Given the description of an element on the screen output the (x, y) to click on. 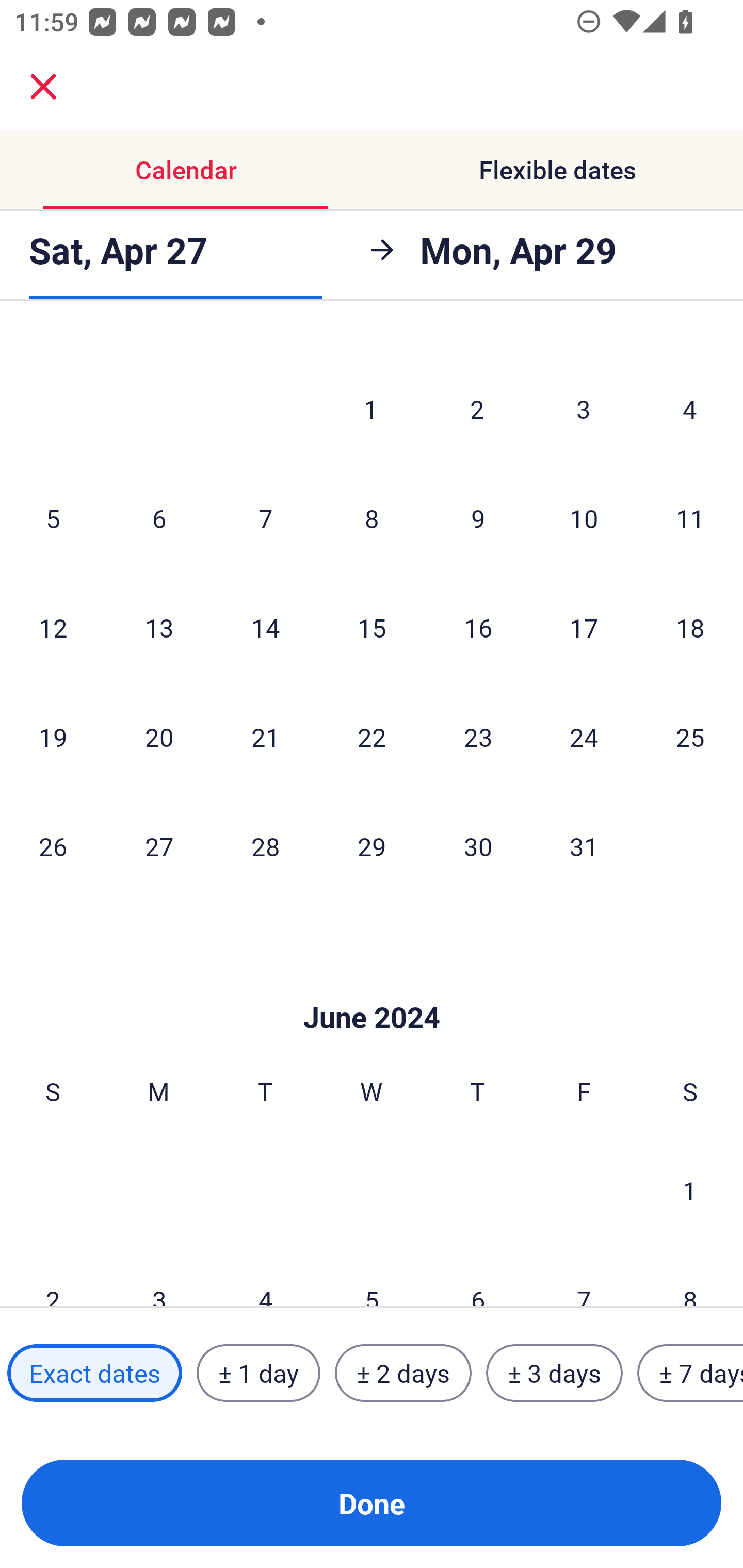
close. (43, 86)
Flexible dates (557, 170)
1 Wednesday, May 1, 2024 (371, 407)
2 Thursday, May 2, 2024 (477, 407)
3 Friday, May 3, 2024 (583, 407)
4 Saturday, May 4, 2024 (689, 407)
5 Sunday, May 5, 2024 (53, 517)
6 Monday, May 6, 2024 (159, 517)
7 Tuesday, May 7, 2024 (265, 517)
8 Wednesday, May 8, 2024 (371, 517)
9 Thursday, May 9, 2024 (477, 517)
10 Friday, May 10, 2024 (584, 517)
11 Saturday, May 11, 2024 (690, 517)
12 Sunday, May 12, 2024 (53, 626)
13 Monday, May 13, 2024 (159, 626)
14 Tuesday, May 14, 2024 (265, 626)
15 Wednesday, May 15, 2024 (371, 626)
16 Thursday, May 16, 2024 (477, 626)
17 Friday, May 17, 2024 (584, 626)
18 Saturday, May 18, 2024 (690, 626)
19 Sunday, May 19, 2024 (53, 736)
20 Monday, May 20, 2024 (159, 736)
21 Tuesday, May 21, 2024 (265, 736)
22 Wednesday, May 22, 2024 (371, 736)
23 Thursday, May 23, 2024 (477, 736)
24 Friday, May 24, 2024 (584, 736)
25 Saturday, May 25, 2024 (690, 736)
26 Sunday, May 26, 2024 (53, 845)
27 Monday, May 27, 2024 (159, 845)
28 Tuesday, May 28, 2024 (265, 845)
29 Wednesday, May 29, 2024 (371, 845)
30 Thursday, May 30, 2024 (477, 845)
31 Friday, May 31, 2024 (584, 845)
Skip to Done (371, 986)
1 Saturday, June 1, 2024 (689, 1189)
Exact dates (94, 1372)
± 1 day (258, 1372)
± 2 days (403, 1372)
± 3 days (553, 1372)
± 7 days (690, 1372)
Done (371, 1502)
